Given the description of an element on the screen output the (x, y) to click on. 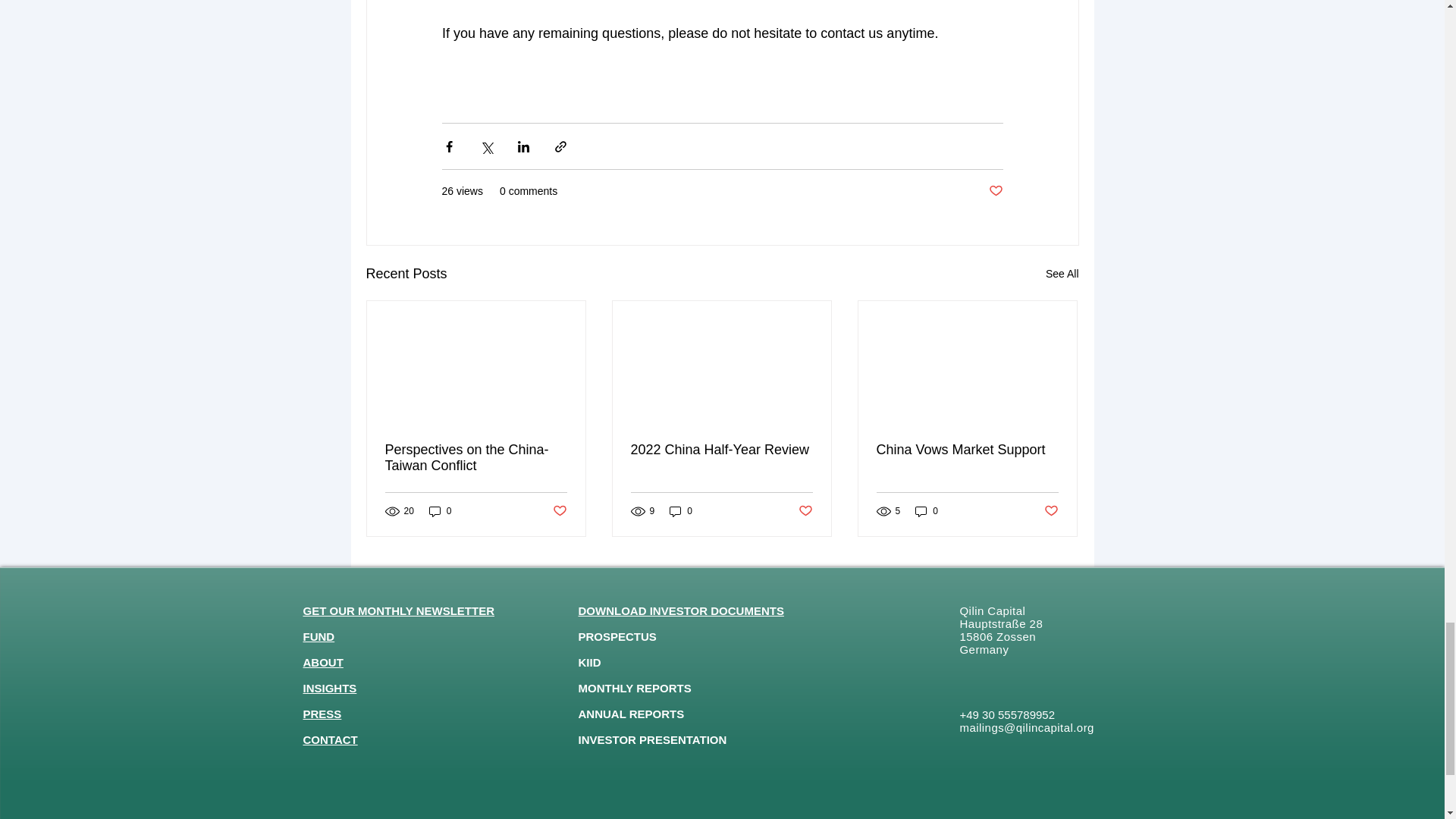
0 (681, 511)
ABOUT (322, 662)
CONTACT (330, 739)
FUND (318, 635)
China Vows Market Support (967, 449)
Post not marked as liked (995, 191)
0 (926, 511)
0 (440, 511)
GET OUR MONTHLY NEWSLETTER (398, 610)
Post not marked as liked (558, 511)
